Given the description of an element on the screen output the (x, y) to click on. 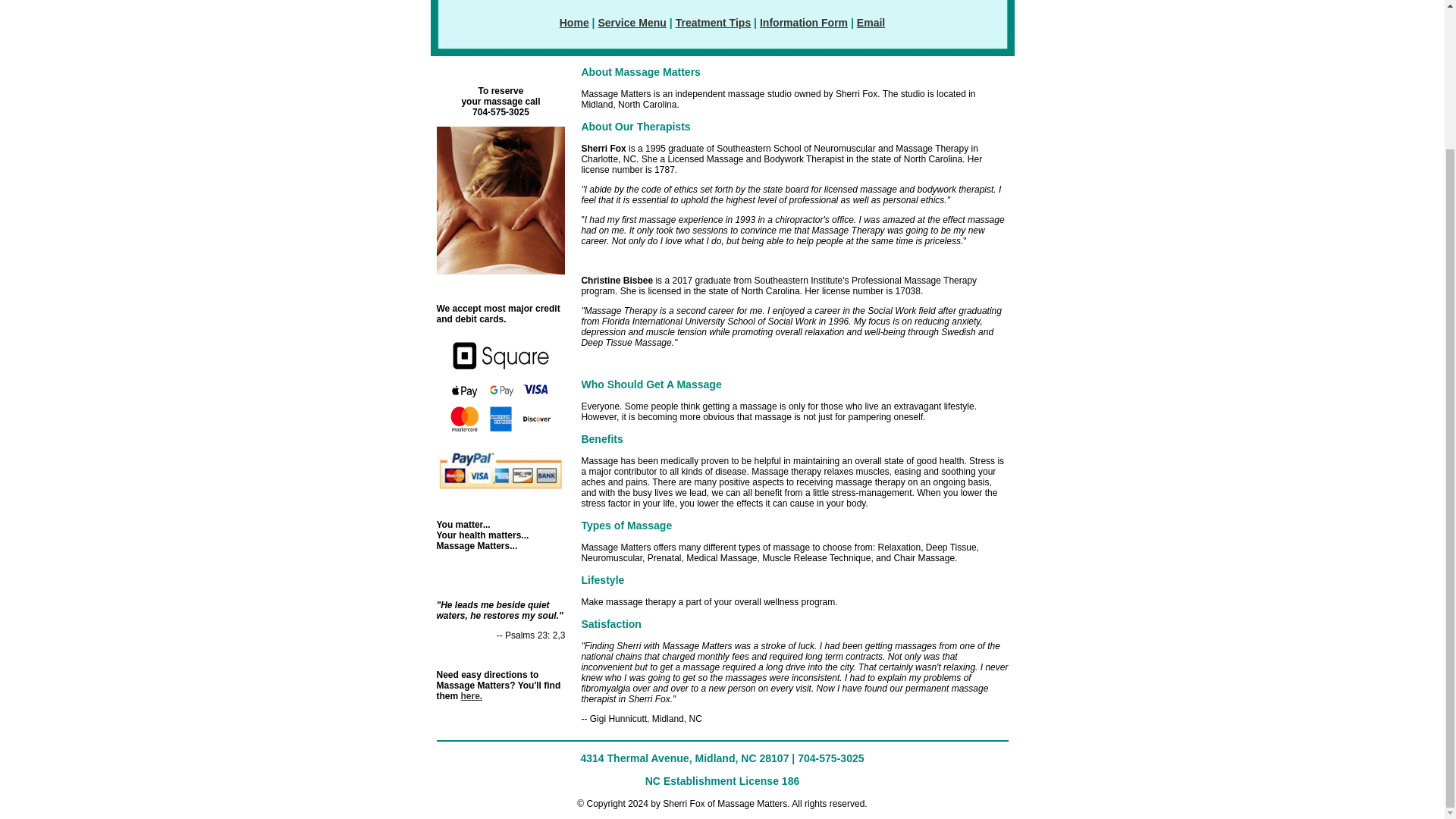
Information Form (803, 22)
Email (871, 22)
Home (574, 22)
Treatment Tips (713, 22)
Service Menu (630, 22)
here. (472, 696)
